Given the description of an element on the screen output the (x, y) to click on. 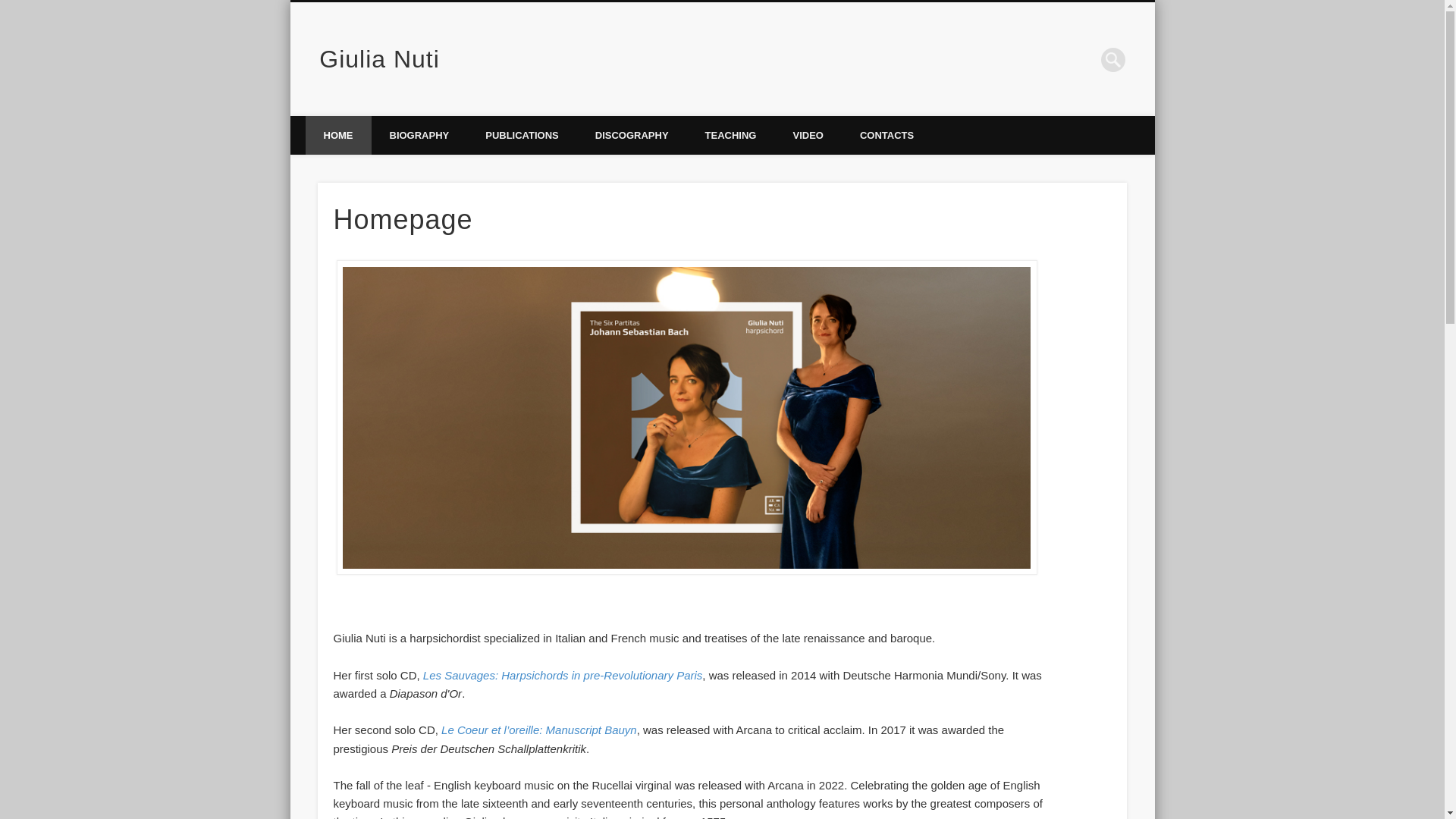
Les Sauvages: Harpsichords in pre-Revolutionary Paris (563, 675)
DISCOGRAPHY (631, 135)
BIOGRAPHY (419, 135)
PUBLICATIONS (521, 135)
HOME (337, 135)
TEACHING (730, 135)
Giulia Nuti (378, 58)
Search (11, 7)
VIDEO (807, 135)
CONTACTS (886, 135)
Les Sauvages CD (563, 675)
